Given the description of an element on the screen output the (x, y) to click on. 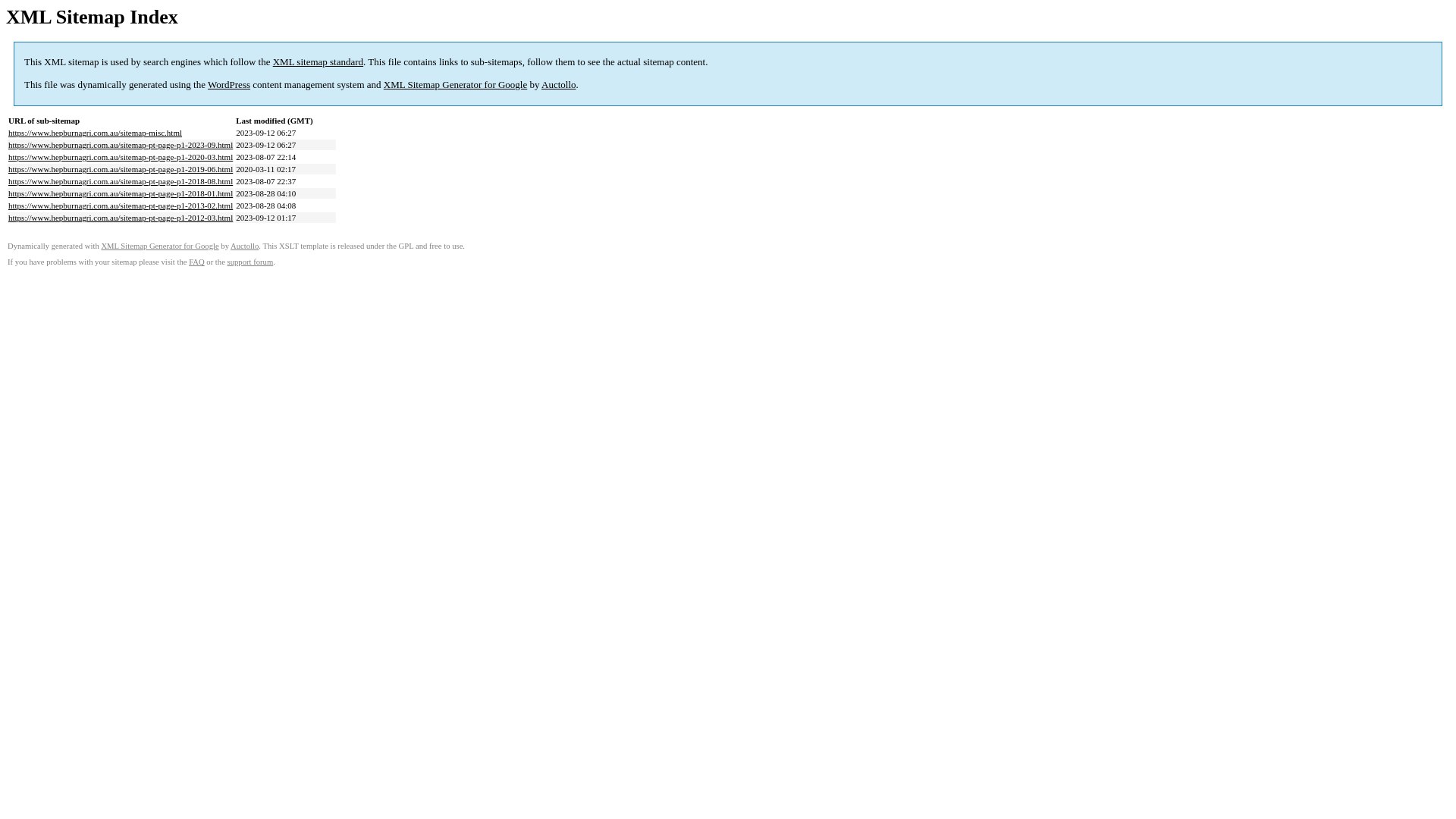
XML sitemap standard Element type: text (318, 61)
https://www.hepburnagri.com.au/sitemap-misc.html Element type: text (95, 132)
Auctollo Element type: text (558, 84)
FAQ Element type: text (196, 261)
XML Sitemap Generator for Google Element type: text (455, 84)
WordPress Element type: text (228, 84)
support forum Element type: text (250, 261)
XML Sitemap Generator for Google Element type: text (159, 245)
Auctollo Element type: text (244, 245)
